Given the description of an element on the screen output the (x, y) to click on. 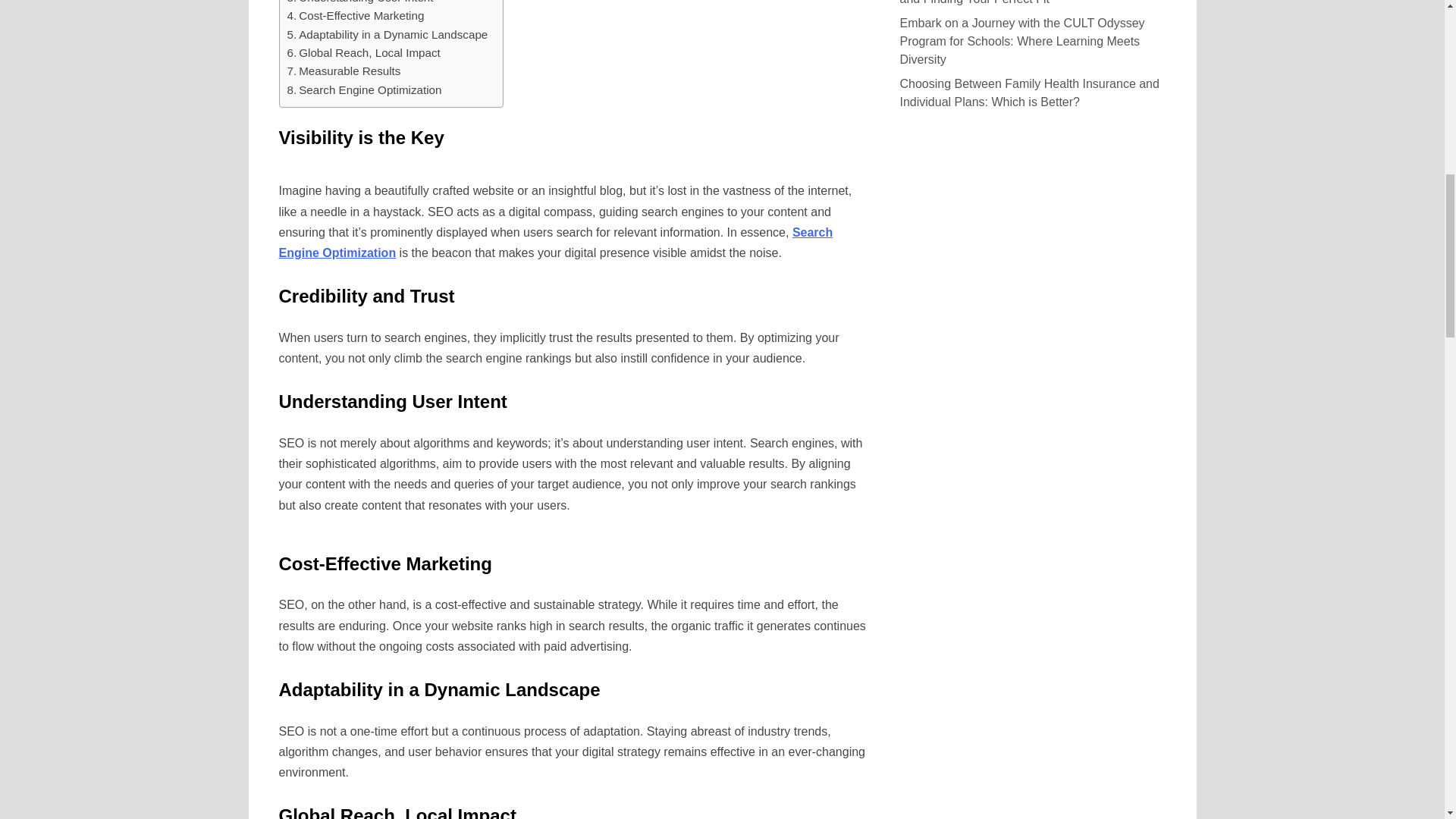
Understanding User Intent (359, 3)
Understanding User Intent (359, 3)
Adaptability in a Dynamic Landscape (386, 34)
Cost-Effective Marketing (354, 15)
Cost-Effective Marketing (354, 15)
